Given the description of an element on the screen output the (x, y) to click on. 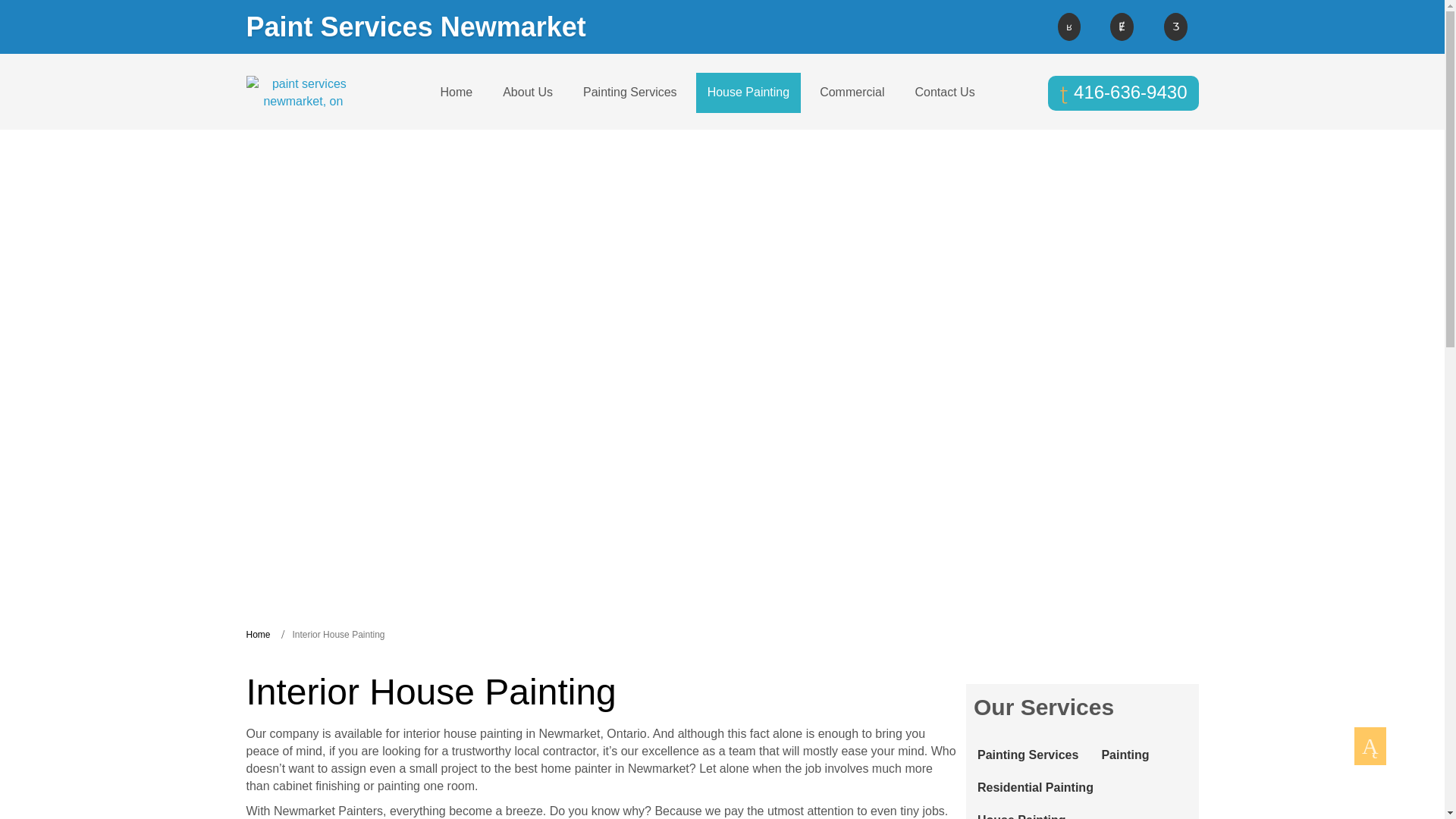
About Us (528, 92)
Home (257, 634)
Contact Us (943, 92)
House Painting (748, 92)
Commercial (851, 92)
Painting Services (630, 92)
Home (456, 92)
House Painting (1021, 811)
Painting (1124, 755)
Painting Services (1027, 755)
416-636-9430 (1123, 93)
Residential Painting (1035, 788)
